Given the description of an element on the screen output the (x, y) to click on. 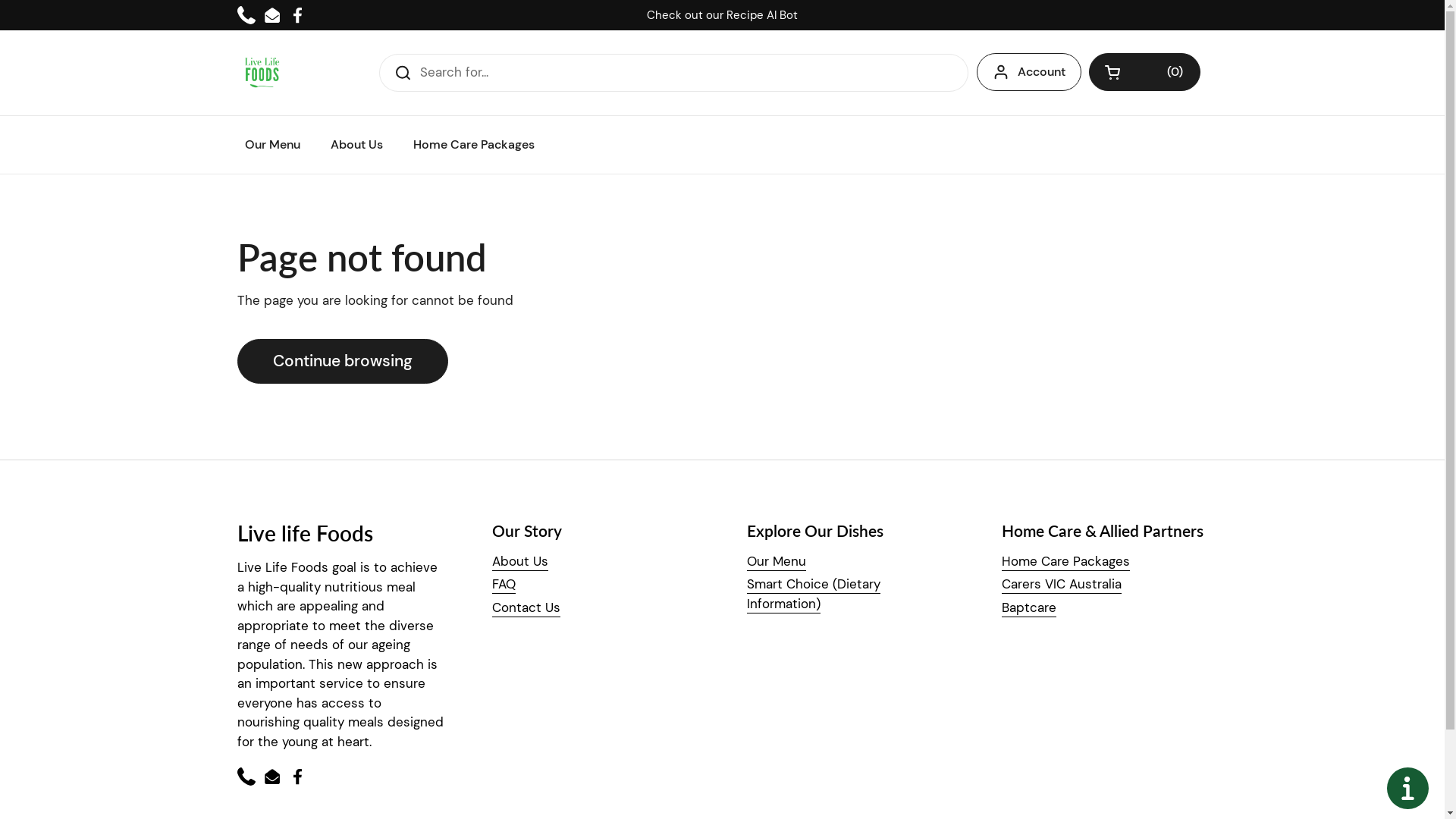
Contact Us Element type: text (525, 608)
Live Life Foods Element type: hover (261, 72)
Smart Choice (Dietary Information) Element type: text (812, 594)
FAQ Element type: text (502, 584)
Baptcare Element type: text (1028, 608)
Home Care Packages Element type: text (1065, 561)
Open cart
0 Element type: text (1144, 72)
Phone Element type: text (245, 776)
About Us Element type: text (356, 144)
Facebook Element type: text (297, 776)
Carers VIC Australia Element type: text (1060, 584)
Our Menu Element type: text (271, 144)
About Us Element type: text (519, 561)
Check out our Recipe AI Bot Element type: text (721, 15)
Email Element type: text (271, 776)
Phone Element type: text (245, 15)
Account Element type: text (1028, 72)
Email Element type: text (271, 15)
Facebook Element type: text (297, 15)
Home Care Packages Element type: text (473, 144)
Continue browsing Element type: text (341, 360)
Skip to content Element type: text (0, 0)
Our Menu Element type: text (775, 561)
